Given the description of an element on the screen output the (x, y) to click on. 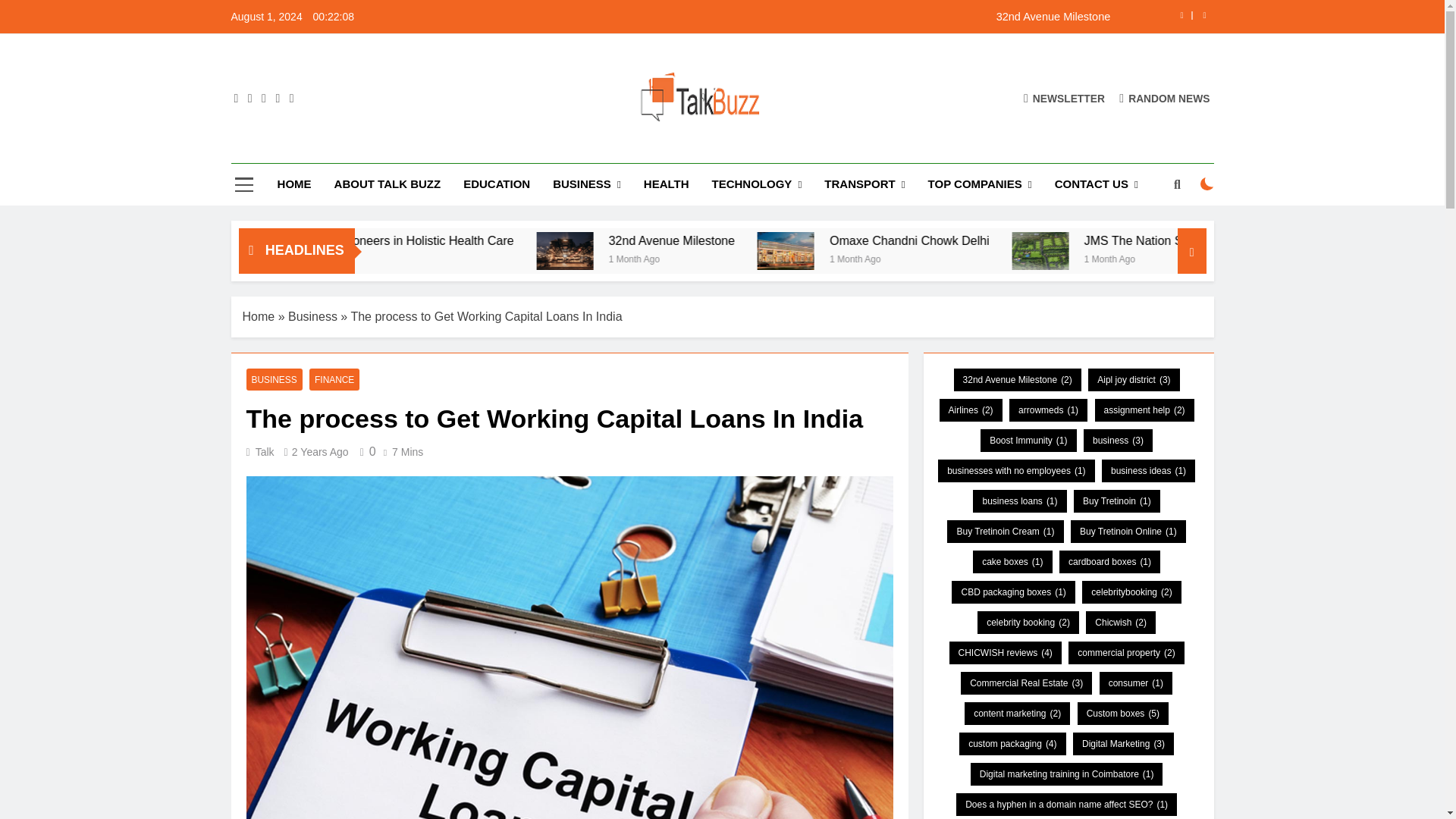
on (1206, 183)
ABOUT TALK BUZZ (387, 183)
Talk Buzz (503, 149)
NEWSLETTER (1064, 97)
BUSINESS (586, 184)
32nd Avenue Milestone (817, 16)
32nd Avenue Milestone (817, 16)
HOME (294, 183)
EDUCATION (496, 183)
RANDOM NEWS (1164, 97)
